Given the description of an element on the screen output the (x, y) to click on. 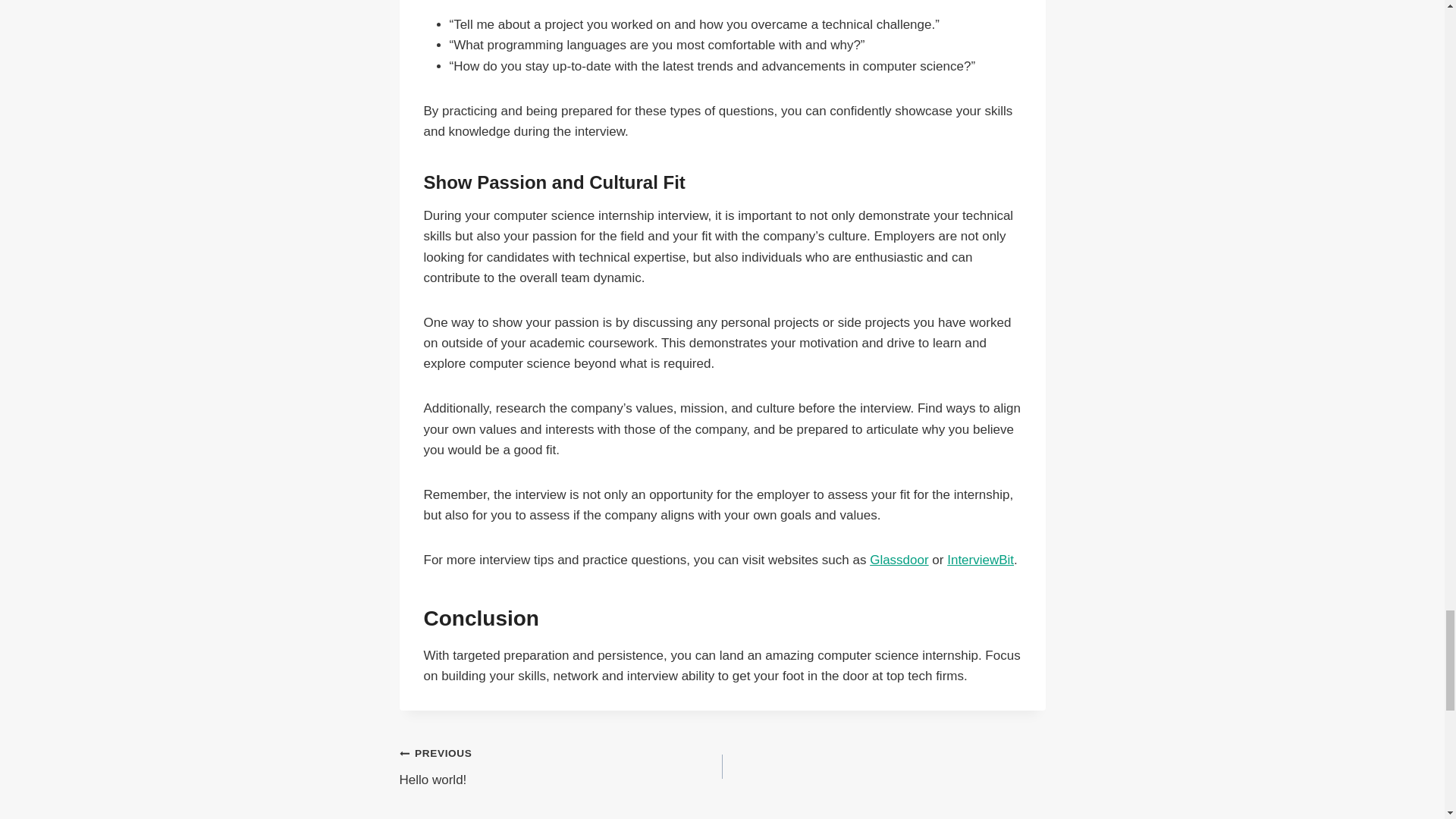
Glassdoor (898, 559)
InterviewBit (980, 559)
